Given the description of an element on the screen output the (x, y) to click on. 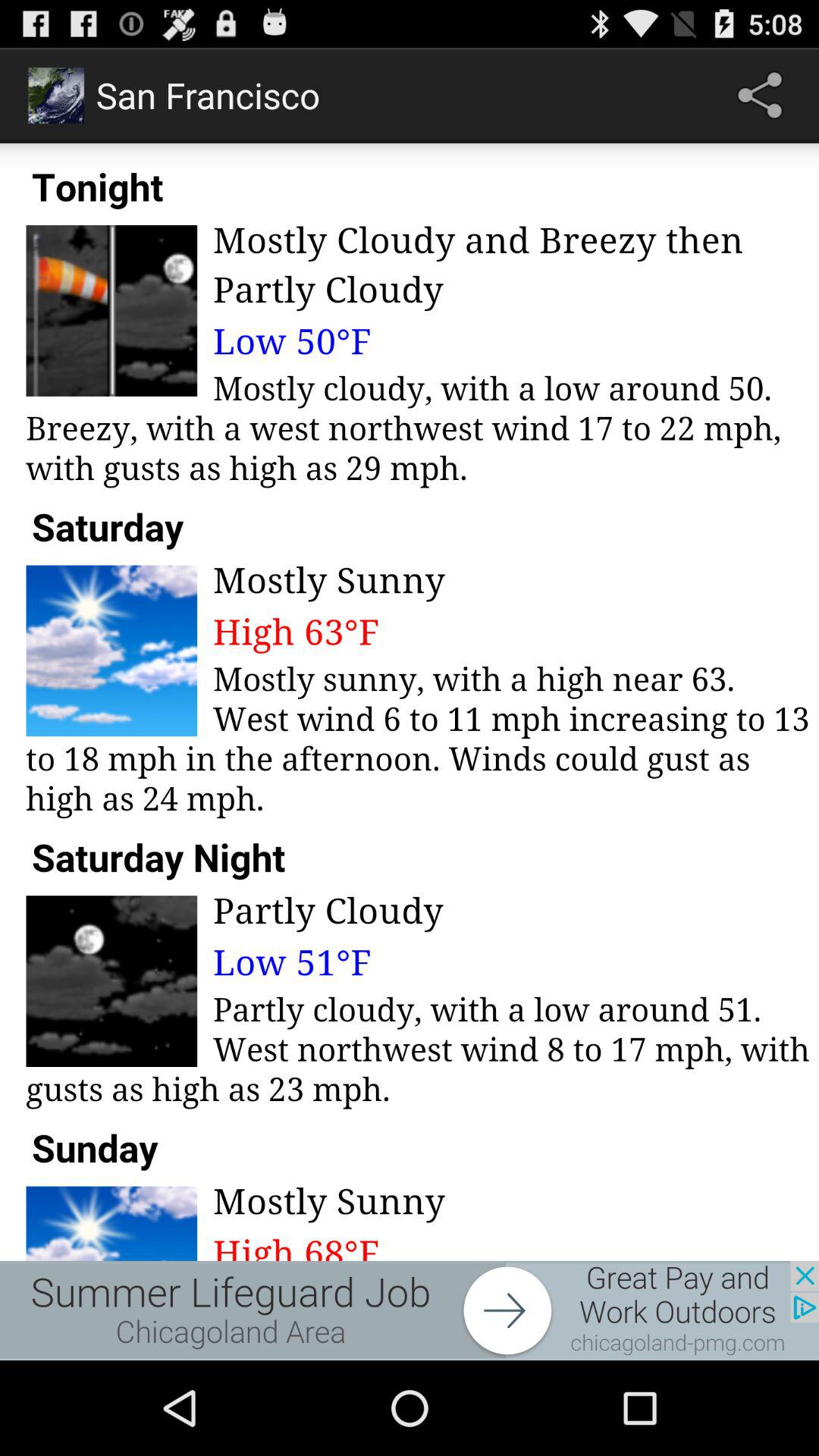
advertisement link (409, 1310)
